Given the description of an element on the screen output the (x, y) to click on. 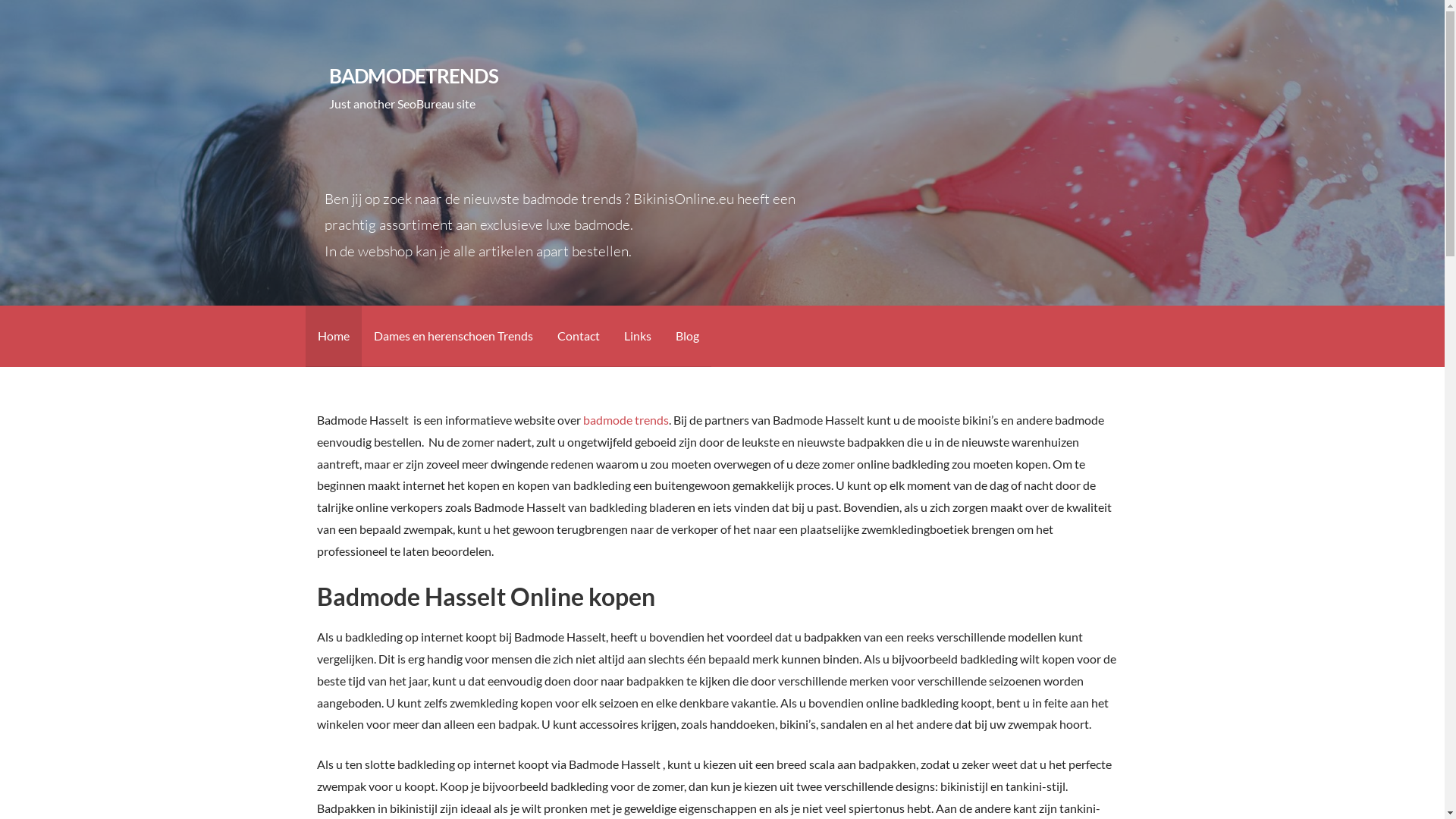
Links Element type: text (636, 336)
Home Element type: text (332, 336)
Contact Element type: text (577, 336)
Dames en herenschoen Trends Element type: text (452, 336)
BADMODETRENDS Element type: text (413, 75)
badmode trends Element type: text (625, 419)
Blog Element type: text (686, 336)
